Given the description of an element on the screen output the (x, y) to click on. 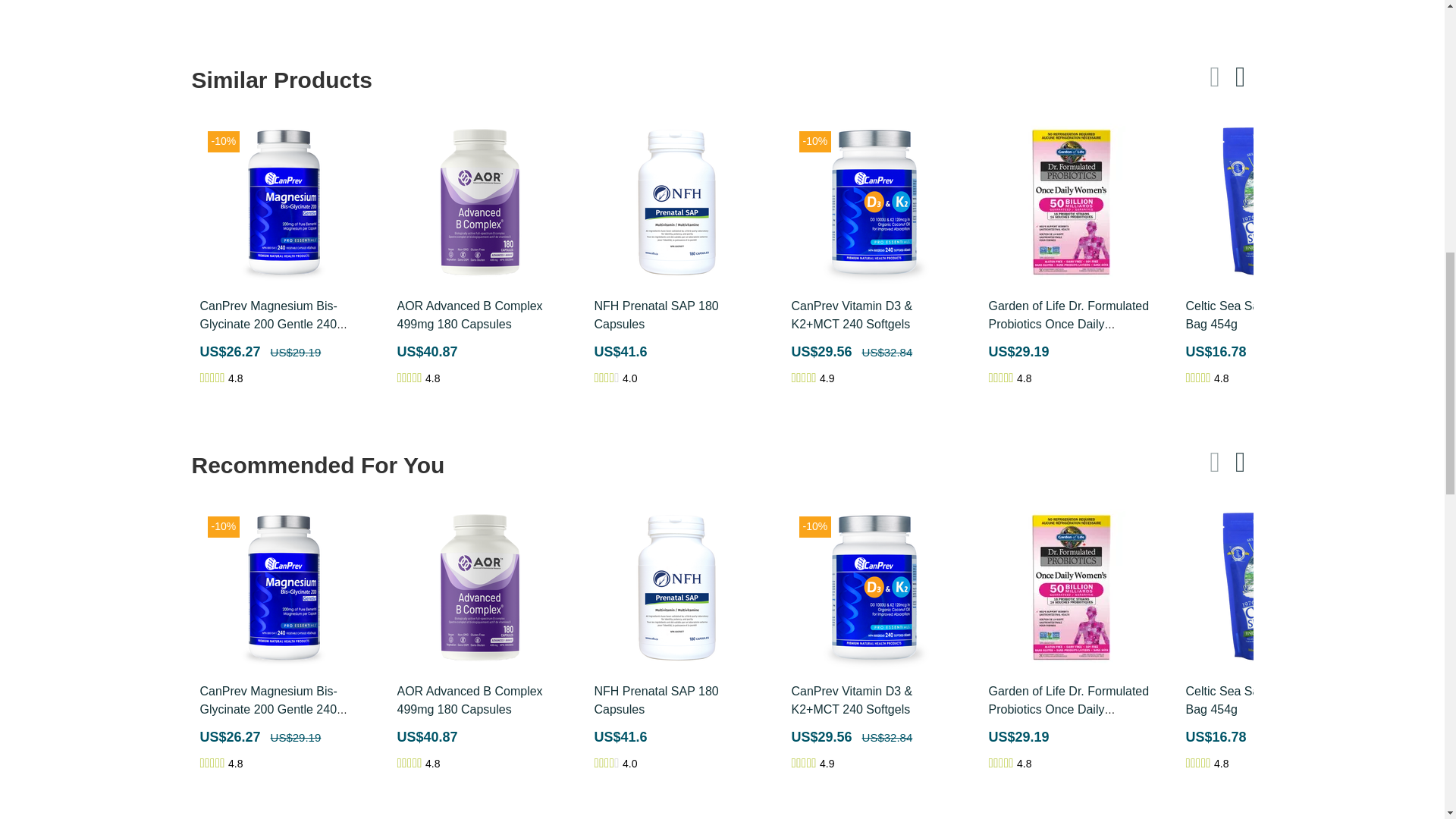
4.8 (1001, 378)
4.8 (1198, 378)
4.9 (804, 378)
4.0 (607, 378)
4.8 (212, 378)
4.8 (410, 378)
